Given the description of an element on the screen output the (x, y) to click on. 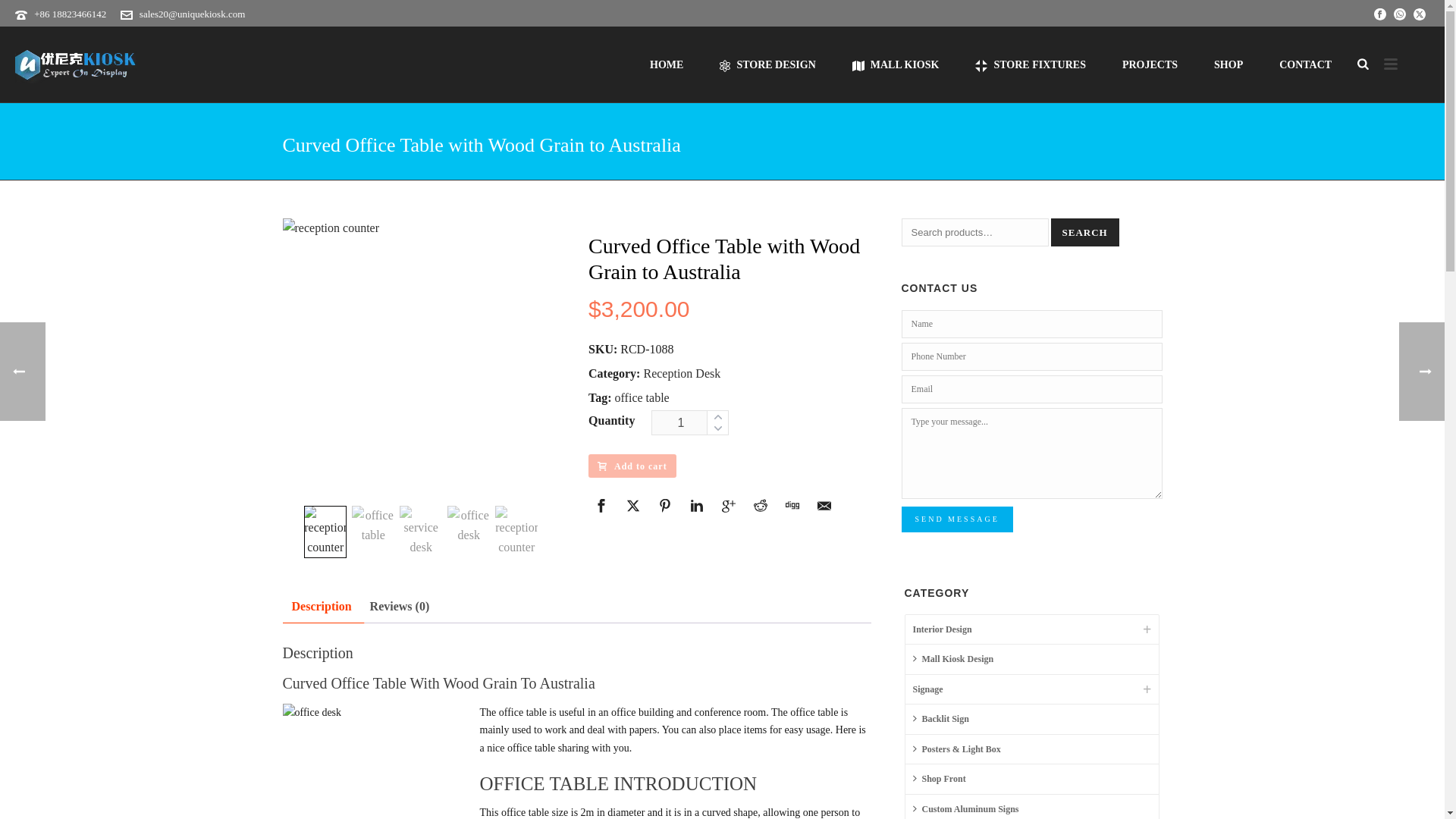
reception-counter-1-1 (423, 359)
1 (689, 422)
MALL KIOSK (895, 64)
STORE FIXTURES (1030, 64)
Qty (689, 422)
SHOP (1227, 64)
CONTACT (1305, 64)
STORE FIXTURES (1030, 64)
HOME (666, 64)
STORE DESIGN (767, 64)
STORE DESIGN (767, 64)
MALL KIOSK (895, 64)
PROJECTS (1149, 64)
HOME (666, 64)
Unique Kiosk (75, 64)
